Given the description of an element on the screen output the (x, y) to click on. 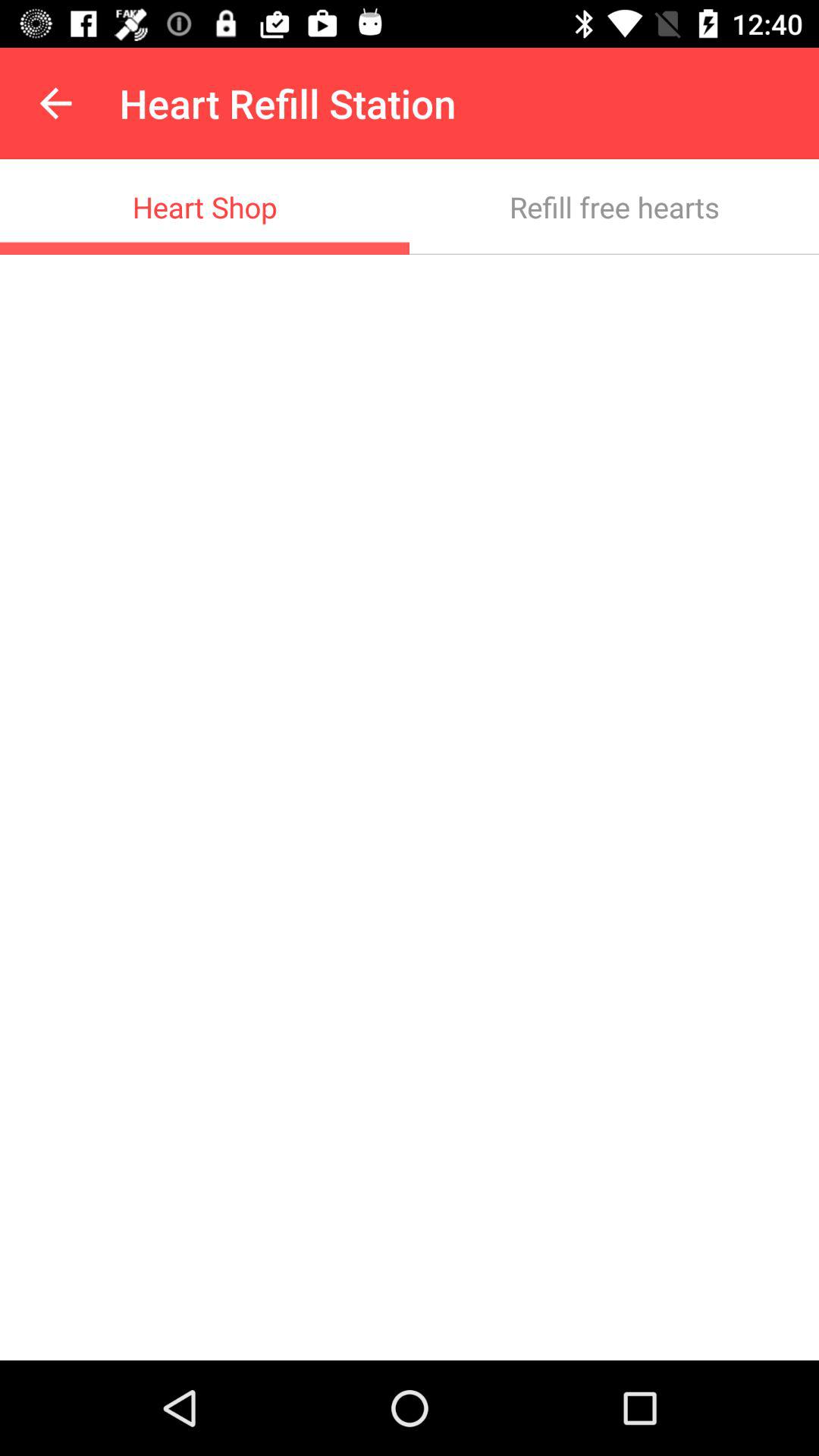
select the icon next to refill free hearts item (204, 206)
